Given the description of an element on the screen output the (x, y) to click on. 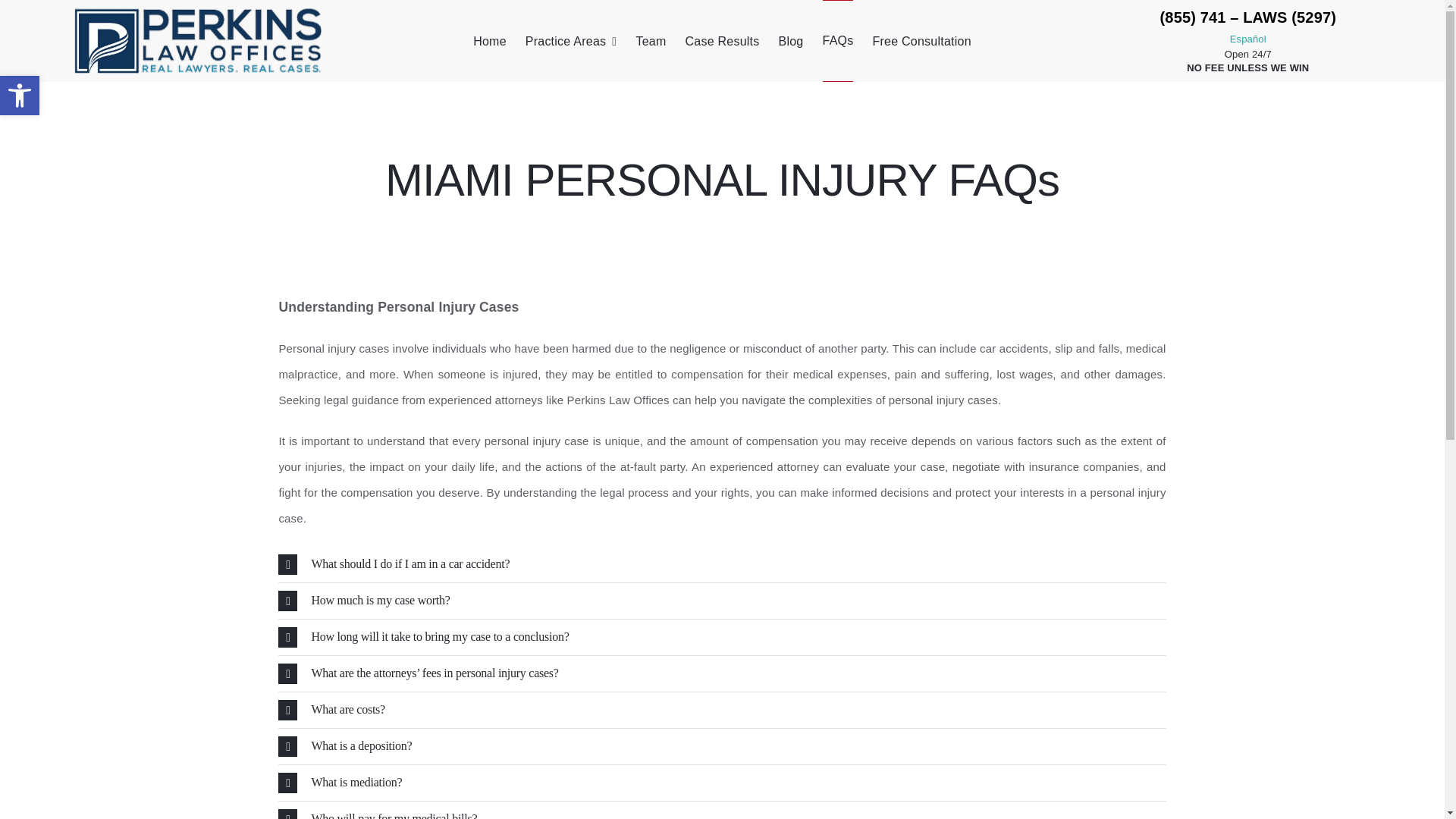
Free Consultation (921, 40)
Practice Areas (571, 40)
Accessibility Tools (19, 95)
Accessibility Tools (19, 95)
Case Results (721, 40)
